Given the description of an element on the screen output the (x, y) to click on. 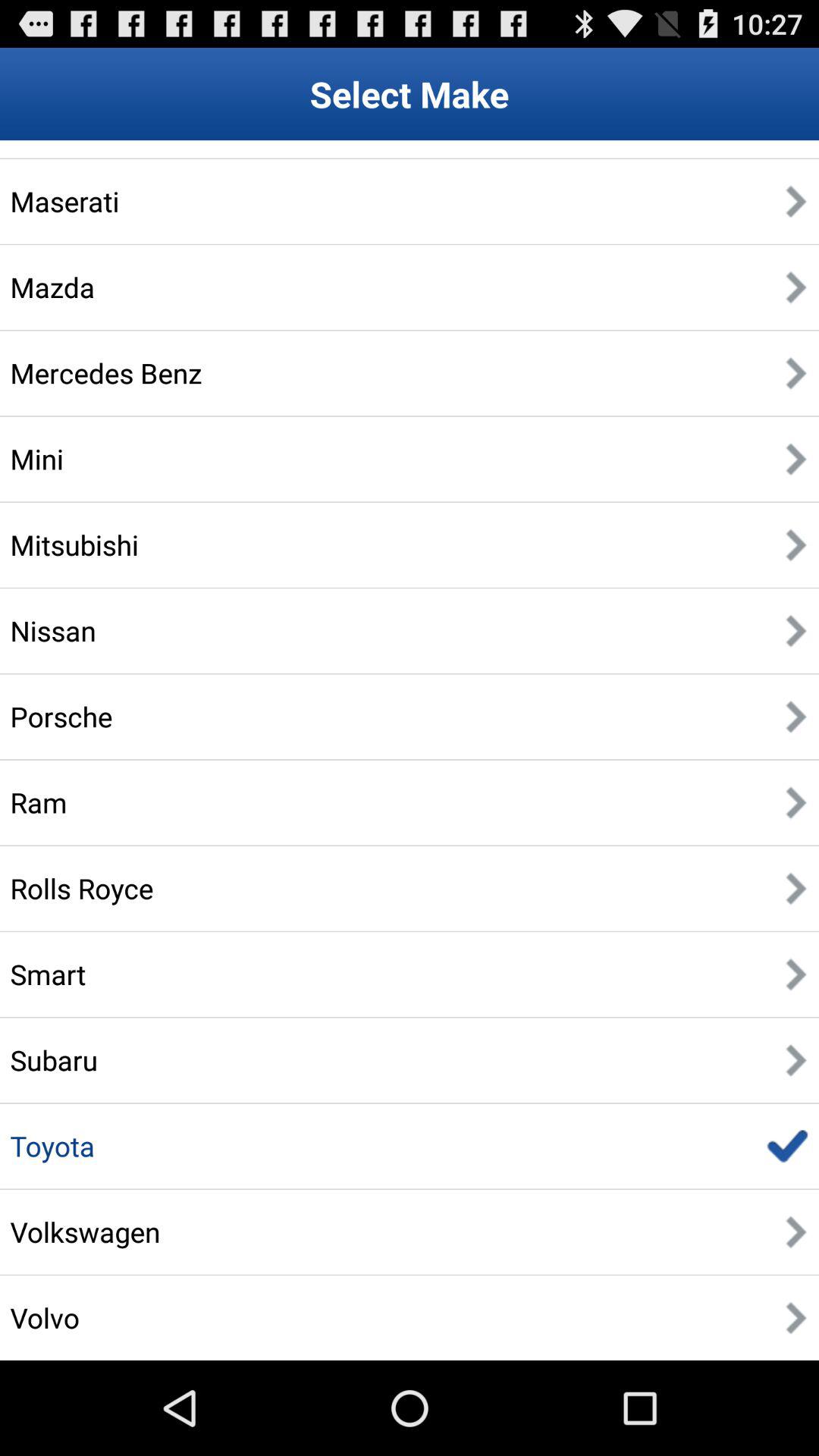
turn on app above rolls royce app (38, 802)
